Given the description of an element on the screen output the (x, y) to click on. 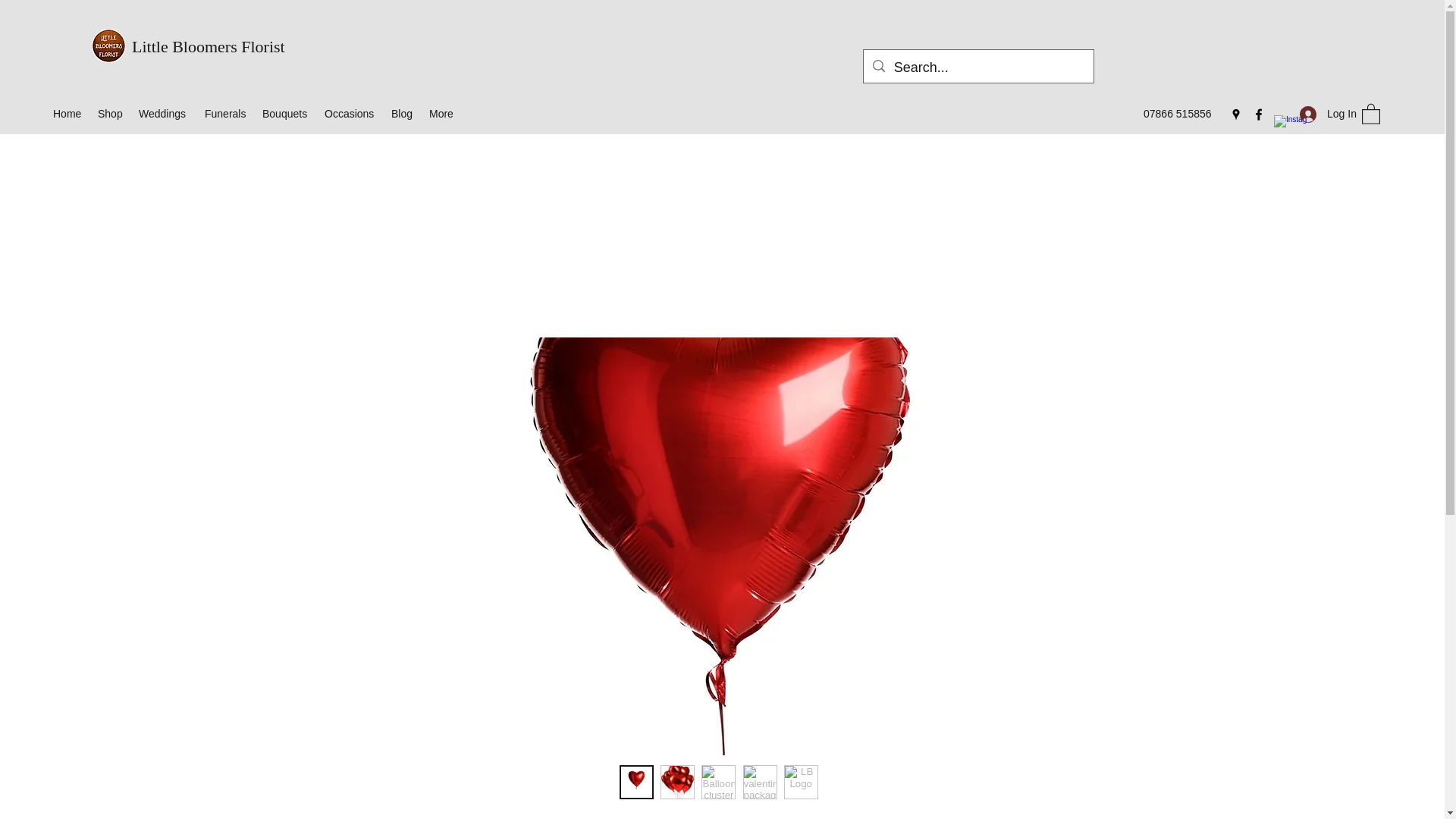
Blog (403, 113)
Bouquets (285, 113)
Little Bloomers Florist (208, 46)
Weddings (163, 113)
Log In (1322, 113)
Occasions (350, 113)
Home (67, 113)
Funerals (225, 113)
Shop (110, 113)
